Given the description of an element on the screen output the (x, y) to click on. 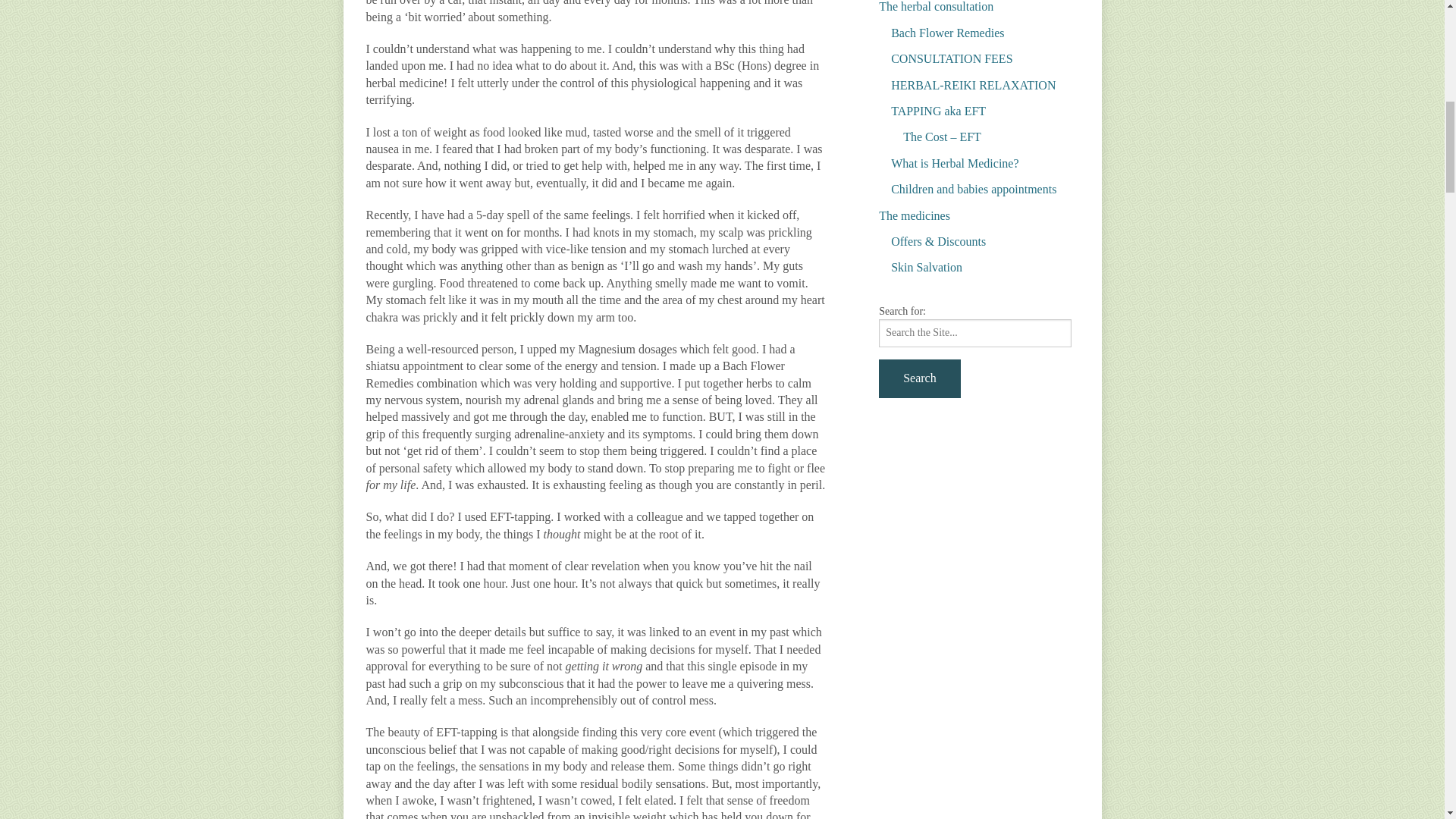
Search (919, 378)
